Given the description of an element on the screen output the (x, y) to click on. 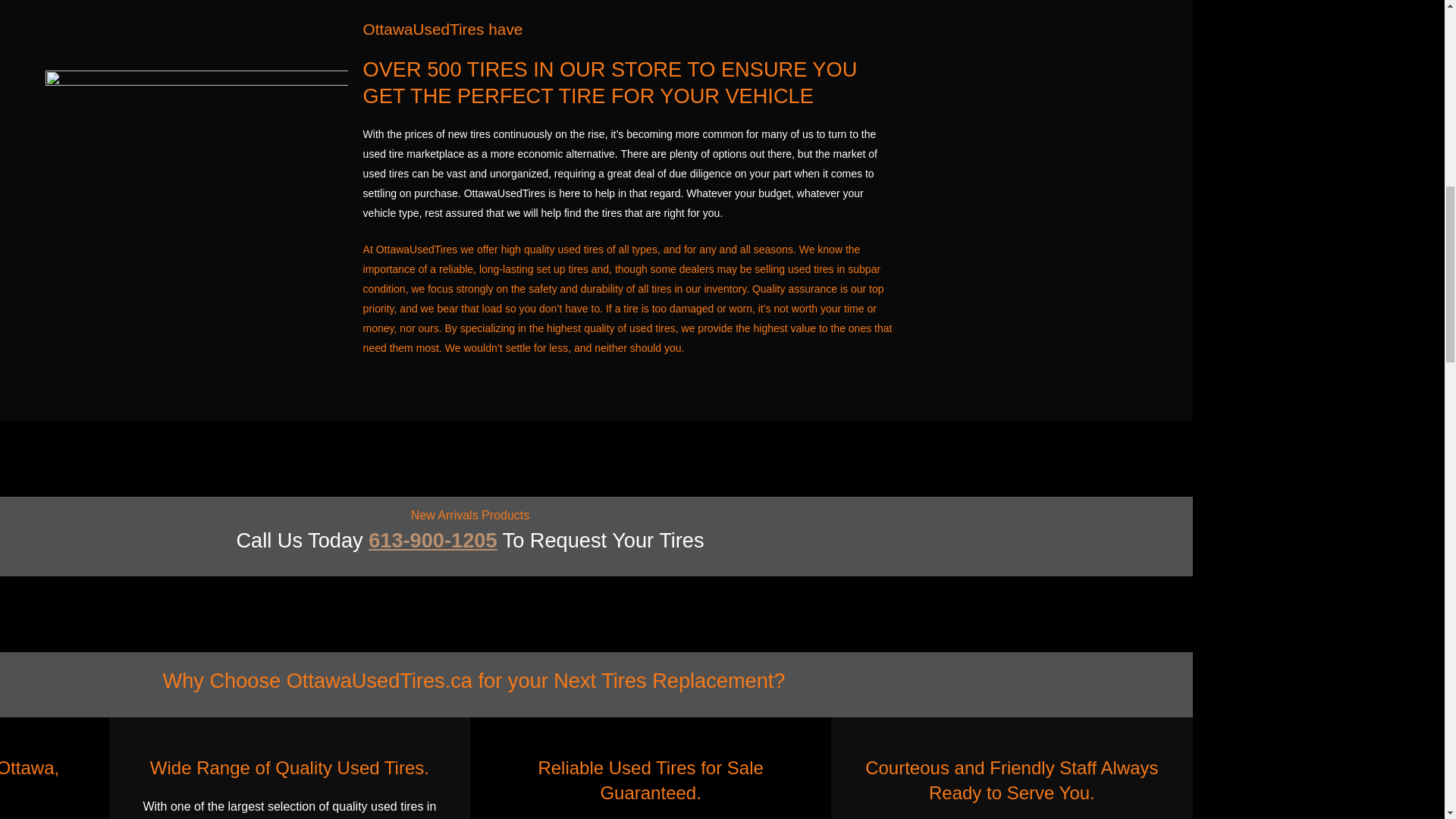
613-900-1205 (432, 540)
